Given the description of an element on the screen output the (x, y) to click on. 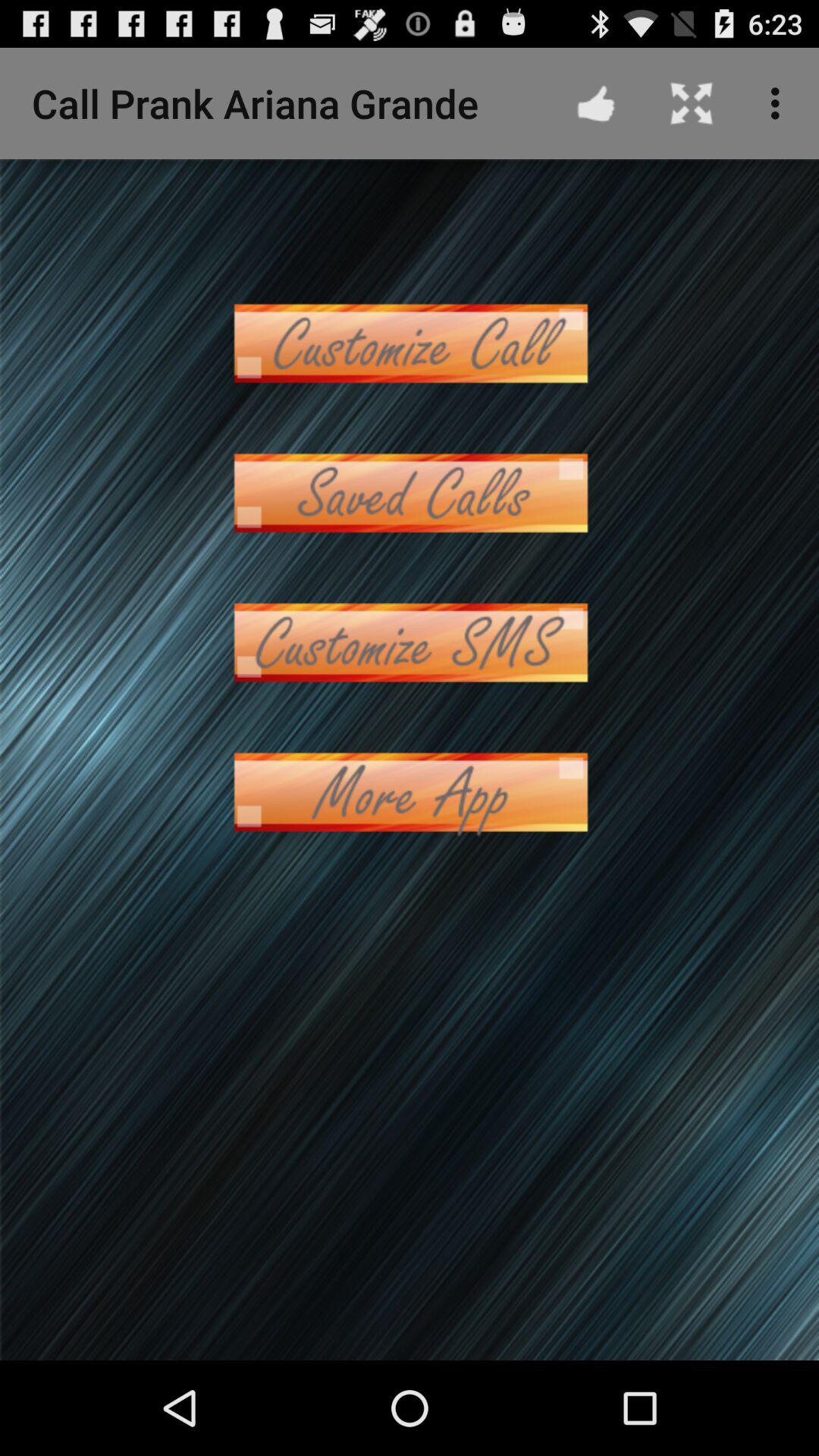
open the item at the top (409, 343)
